Given the description of an element on the screen output the (x, y) to click on. 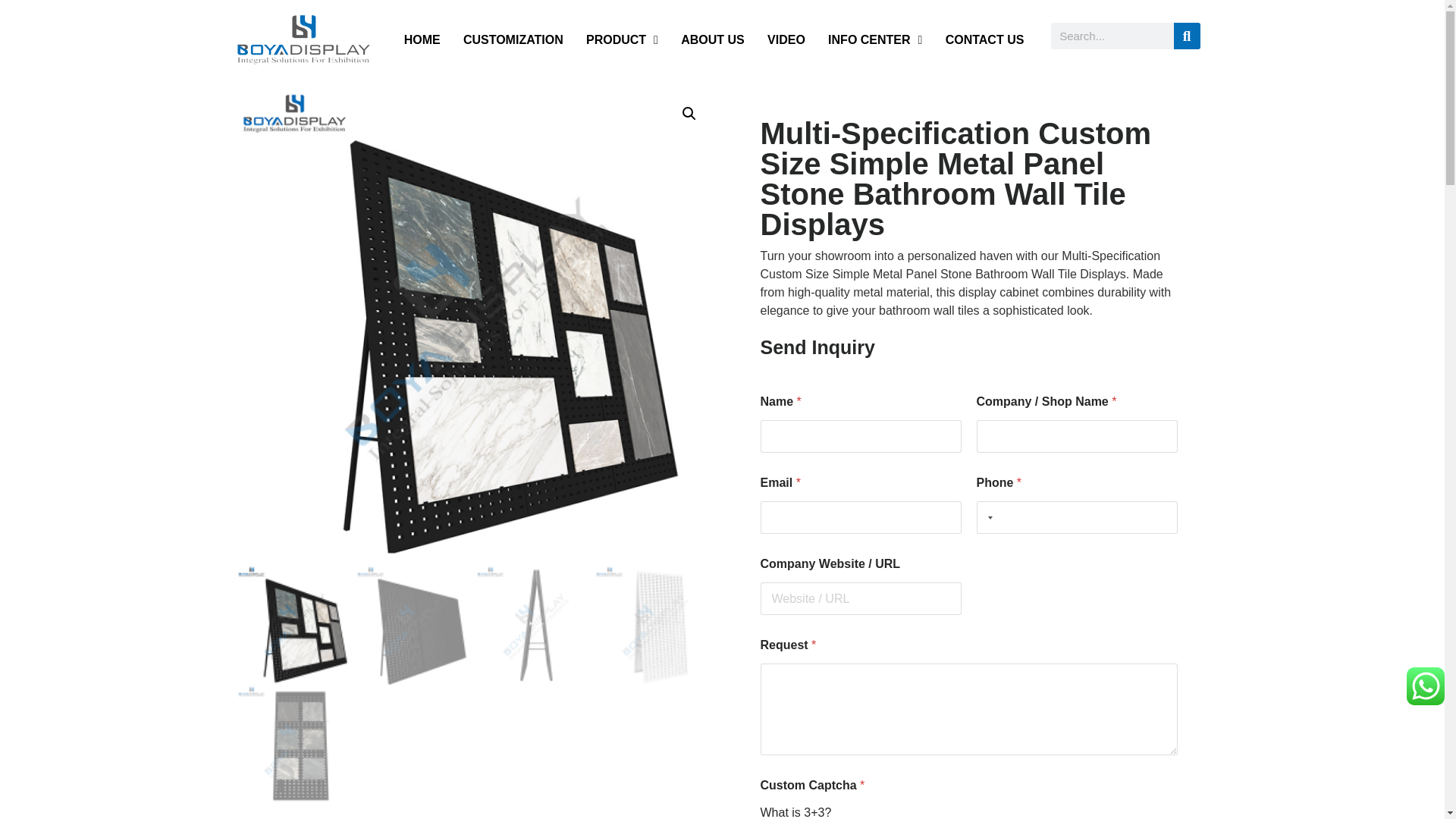
CONTACT US (984, 39)
ABOUT US (712, 39)
PRODUCT (622, 39)
CUSTOMIZATION (513, 39)
HOME (422, 39)
INFO CENTER (875, 39)
Display racks for various purposes (622, 39)
Customize your display stand (513, 39)
VIDEO (785, 39)
